Given the description of an element on the screen output the (x, y) to click on. 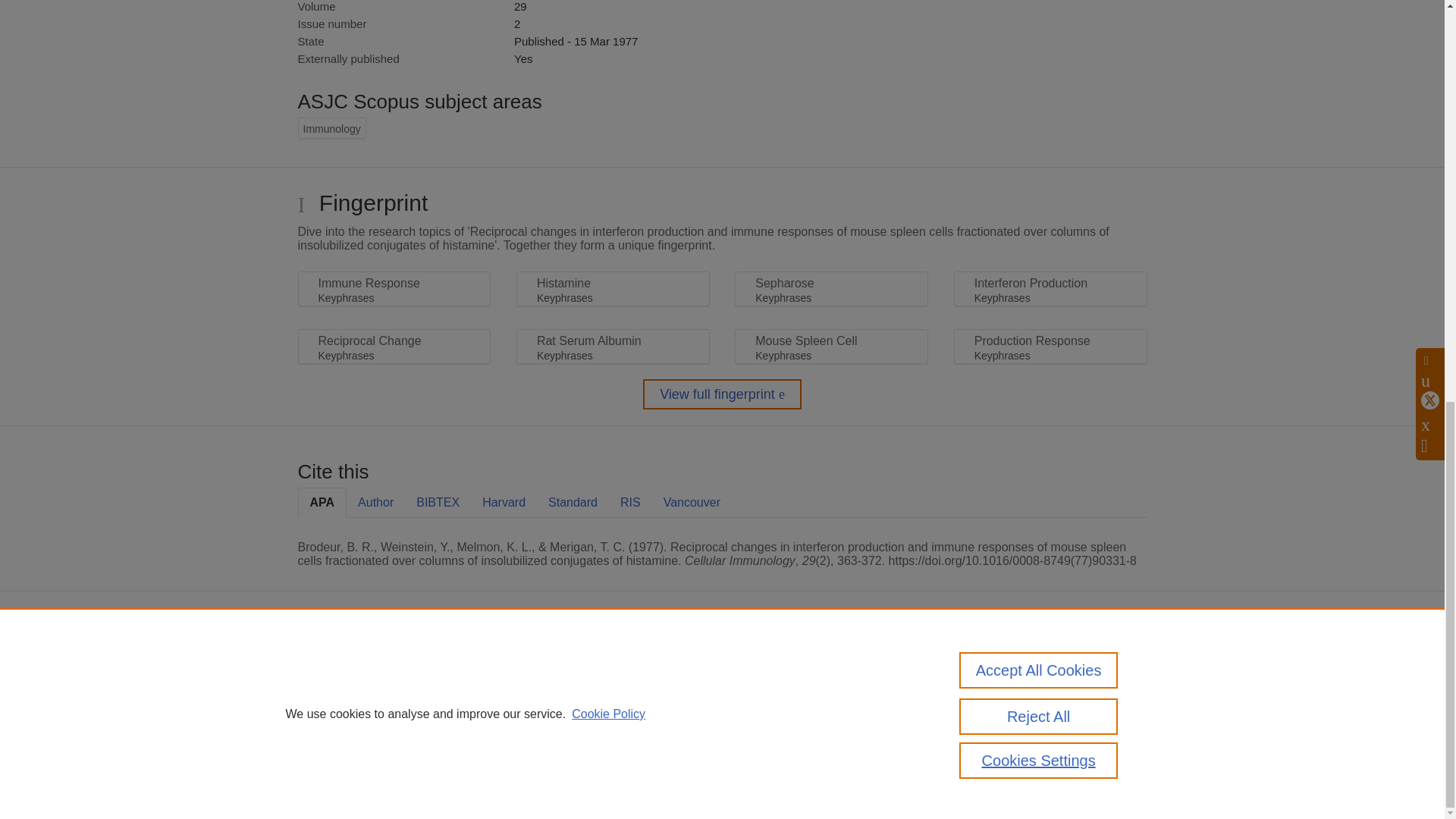
Scopus (394, 666)
Pure (362, 666)
View full fingerprint (722, 394)
